Given the description of an element on the screen output the (x, y) to click on. 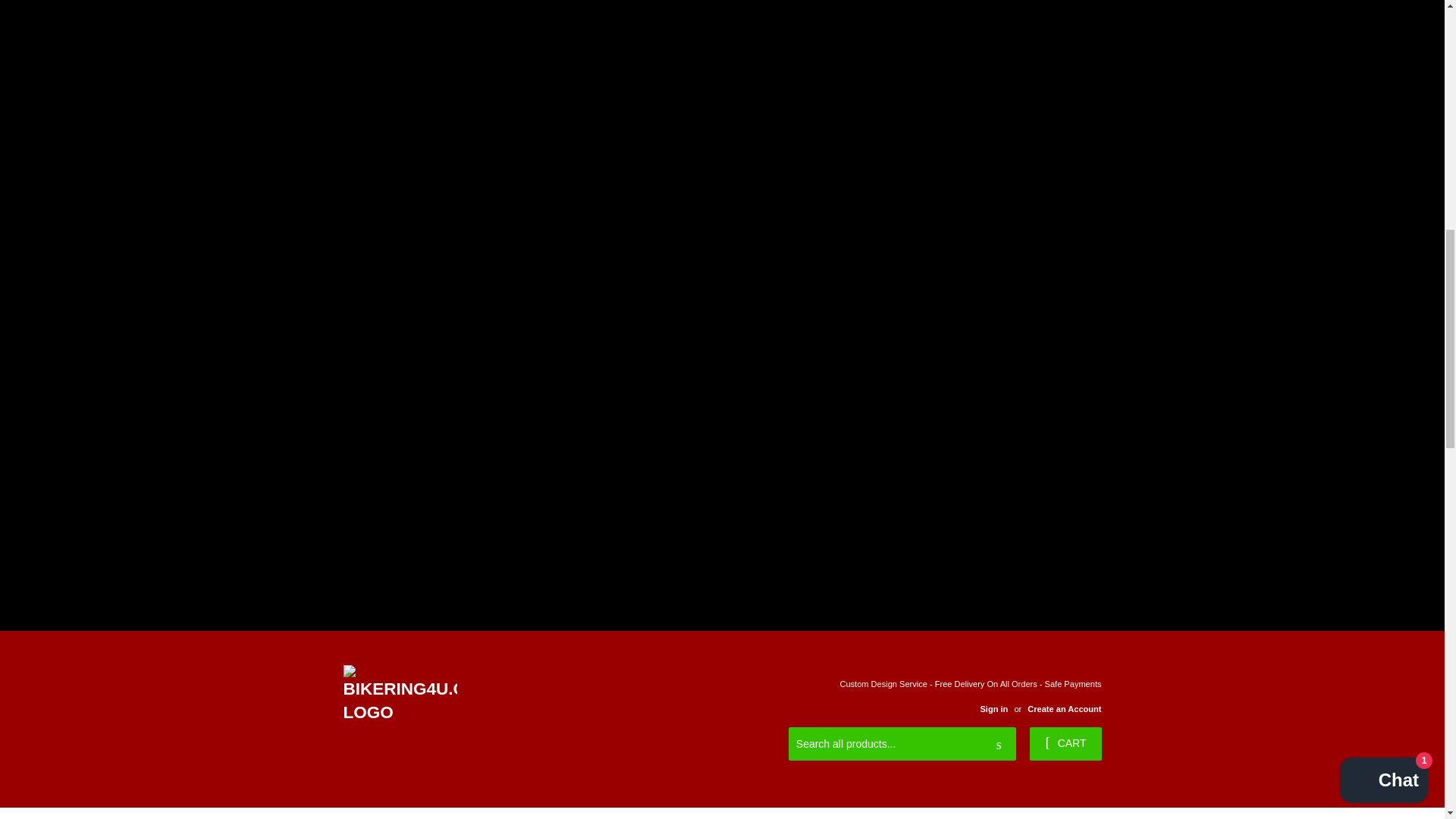
CART (1064, 743)
TRACK YOUR ORDER (550, 813)
HOME (359, 813)
SHOP HERE (434, 813)
Sign in (993, 708)
CONTACT US (666, 813)
Create an Account (1063, 708)
Search (998, 744)
